Given the description of an element on the screen output the (x, y) to click on. 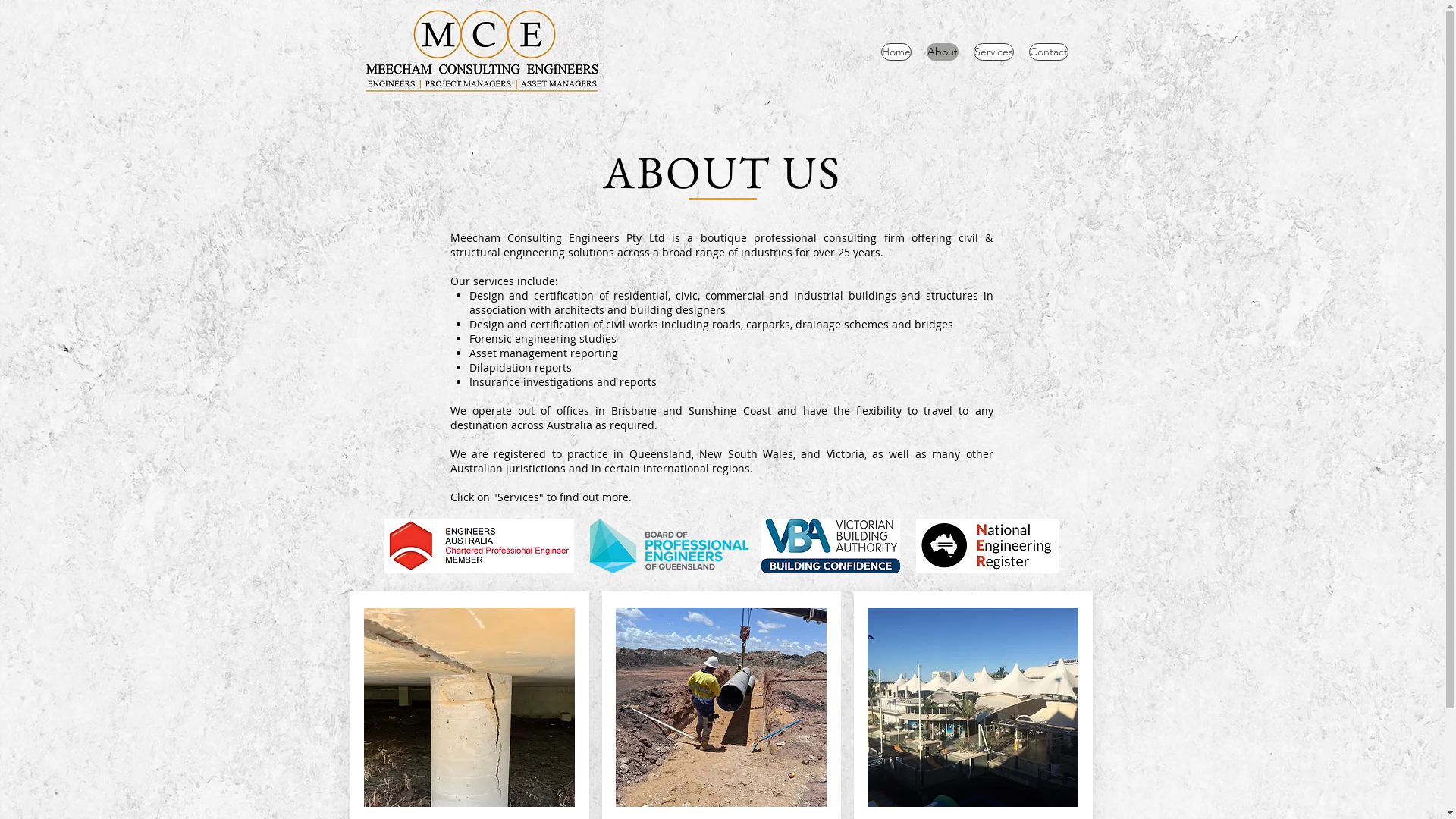
Services Element type: text (993, 51)
Contact Element type: text (1047, 51)
Home Element type: text (896, 51)
About Element type: text (942, 51)
